Given the description of an element on the screen output the (x, y) to click on. 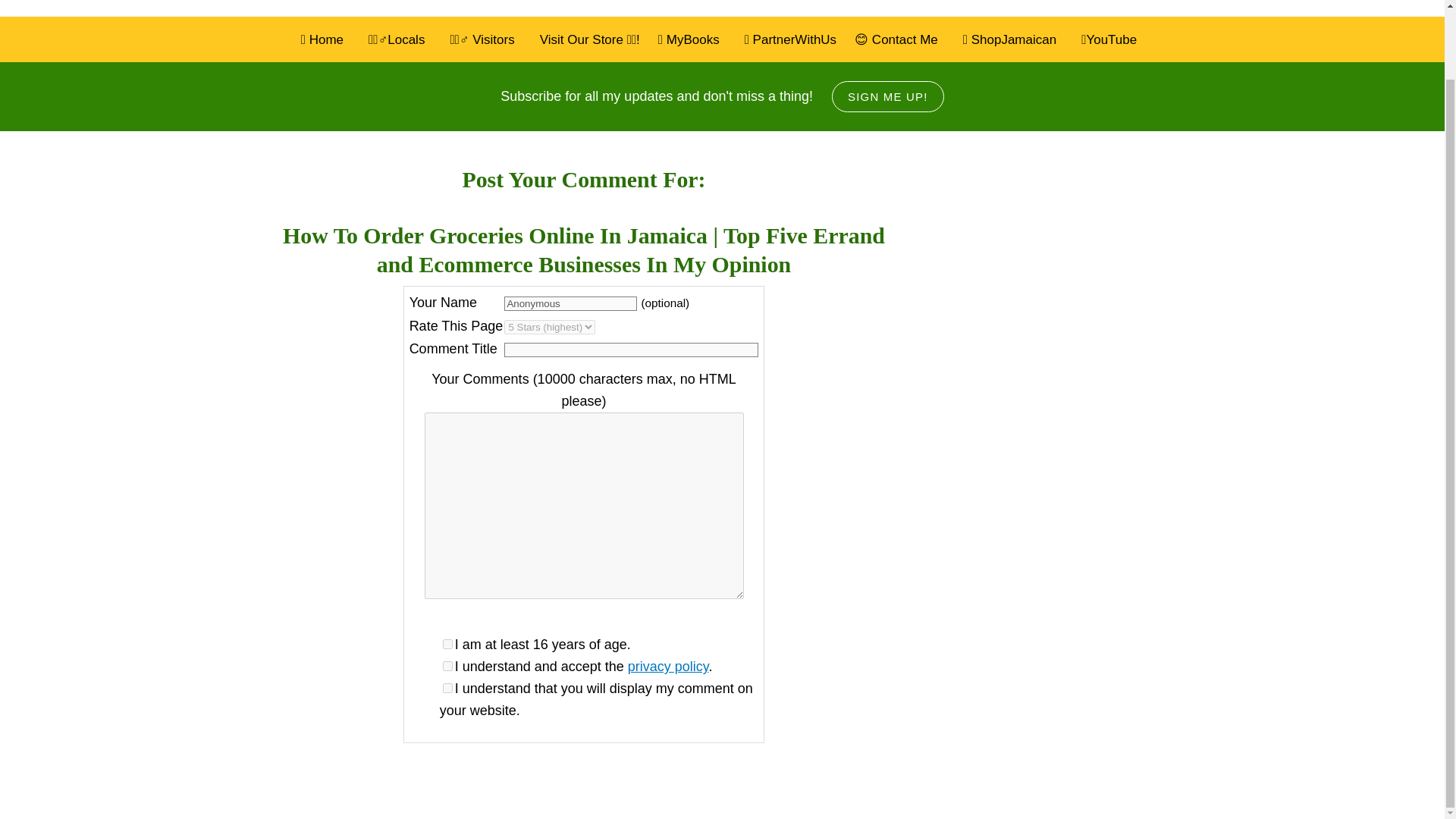
Anonymous (570, 303)
1 (447, 644)
1 (447, 687)
MY WEBSITE (423, 2)
1 (447, 665)
